Given the description of an element on the screen output the (x, y) to click on. 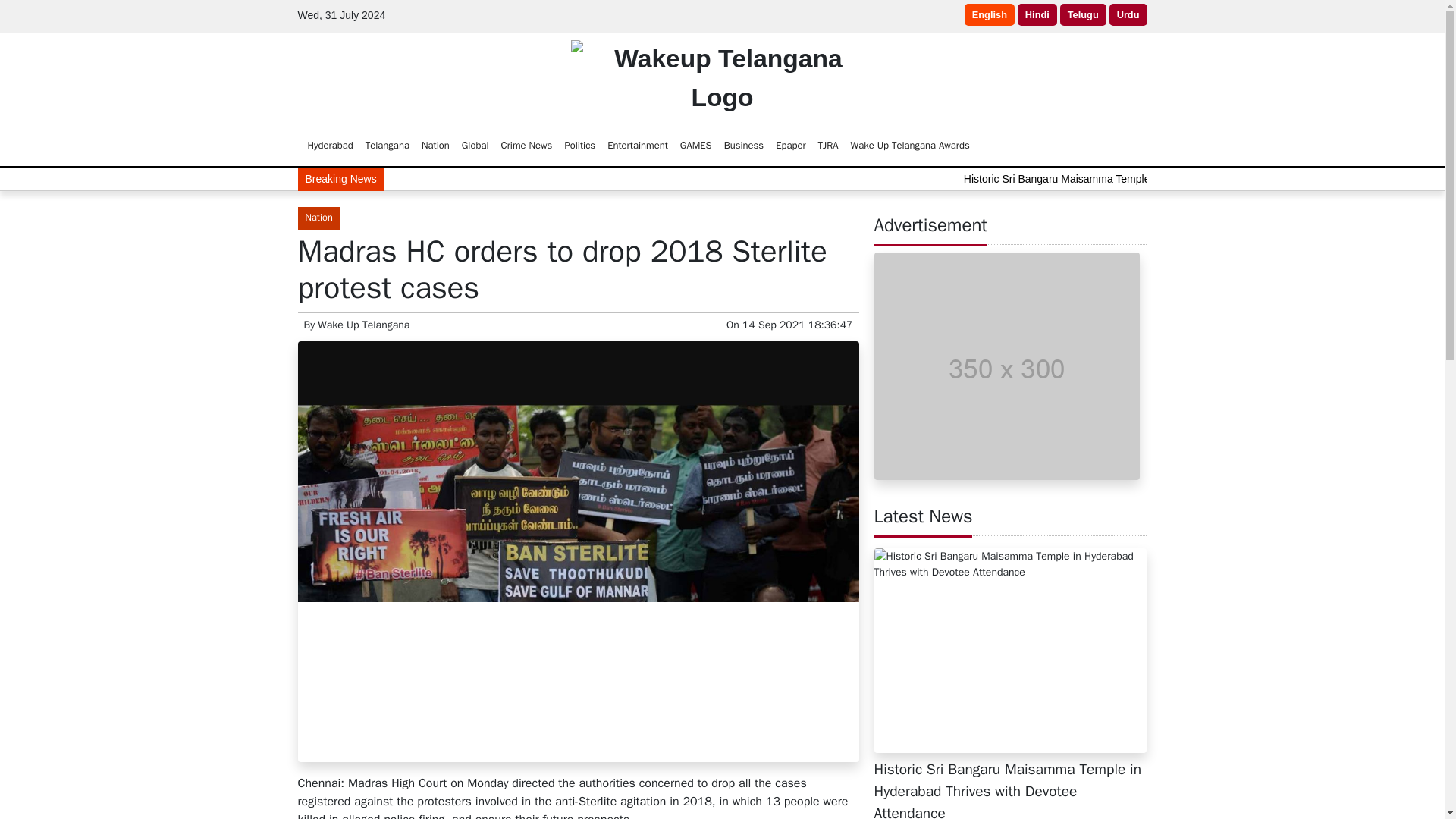
Entertainment (637, 144)
Urdu (1128, 14)
Telangana (386, 144)
Nation (434, 144)
Hyderabad (330, 144)
Telugu (1082, 14)
TJRA (828, 144)
Hindi (1037, 14)
Epaper (790, 144)
Politics (579, 144)
English (988, 14)
Crime News (527, 144)
Wake Up Telangana Awards (909, 144)
GAMES (695, 144)
Global (475, 144)
